Given the description of an element on the screen output the (x, y) to click on. 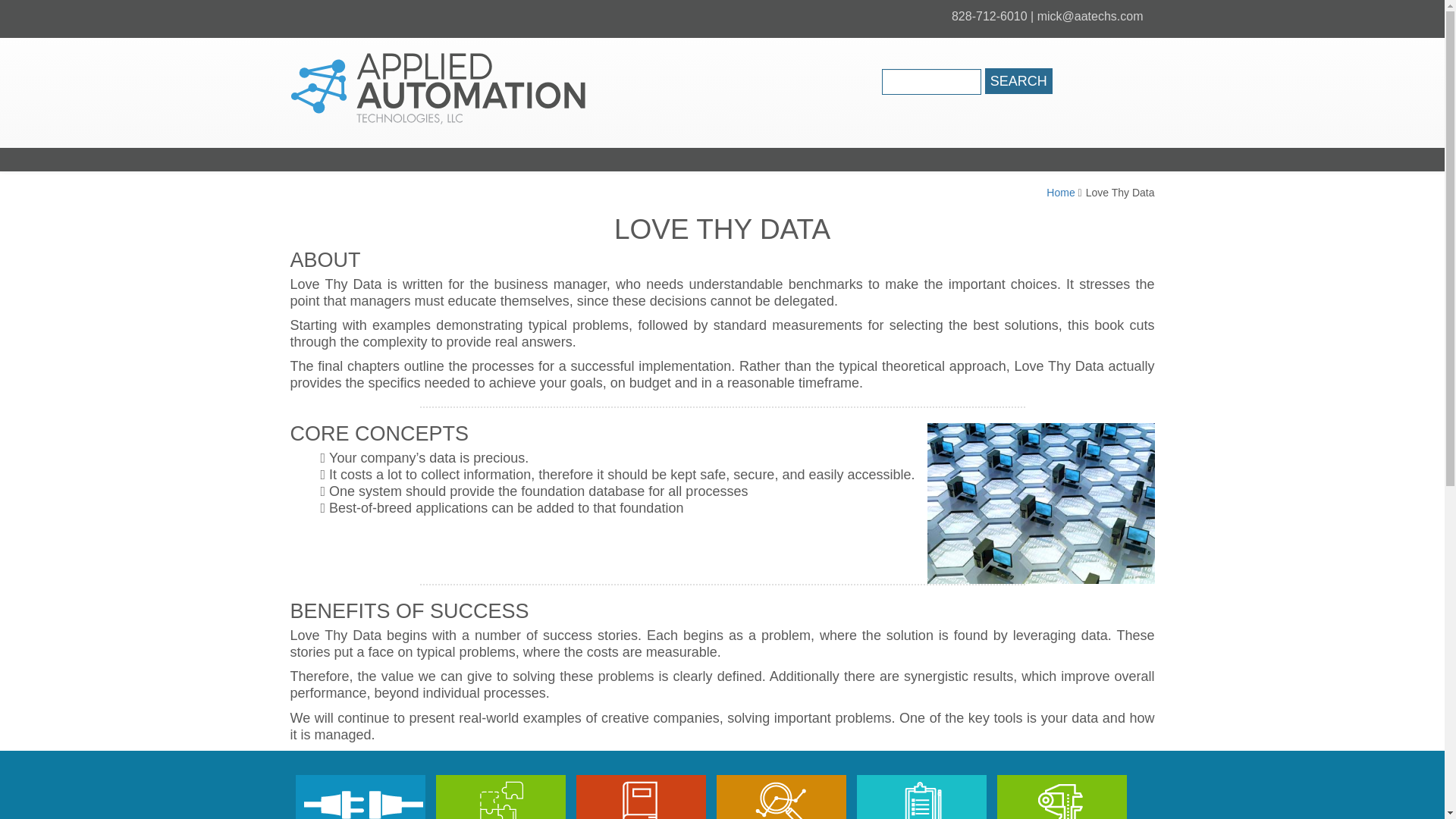
Search (1018, 80)
Home (1060, 192)
Search (1018, 80)
Search (1018, 80)
